Given the description of an element on the screen output the (x, y) to click on. 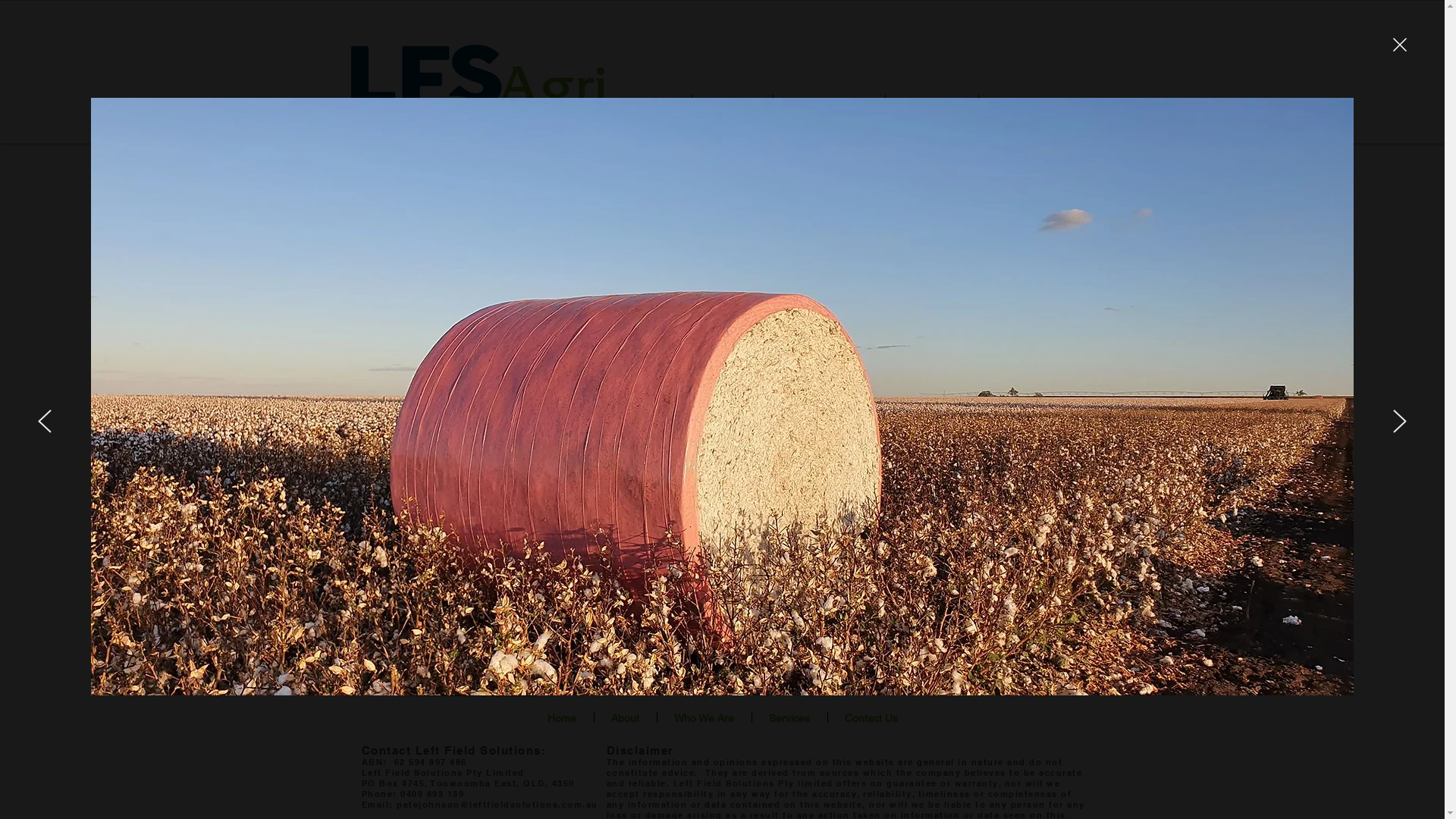
Contact Us Element type: text (871, 716)
Home Element type: text (649, 105)
Who We Are Element type: text (828, 105)
petejohnson@leftfieldsolutions.com.au Element type: text (497, 804)
Contact Us Element type: text (1030, 105)
About Element type: text (731, 105)
Who We Are Element type: text (703, 716)
Disclaimer Element type: text (640, 749)
About Element type: text (625, 716)
Home Element type: text (561, 716)
Example Hedging Model Element type: text (473, 689)
Capture.PNG Element type: hover (477, 87)
Example Market Report Element type: text (470, 660)
Contact Left Field Solutions: Element type: text (453, 749)
Example Best Bids Element type: text (458, 675)
